Given the description of an element on the screen output the (x, y) to click on. 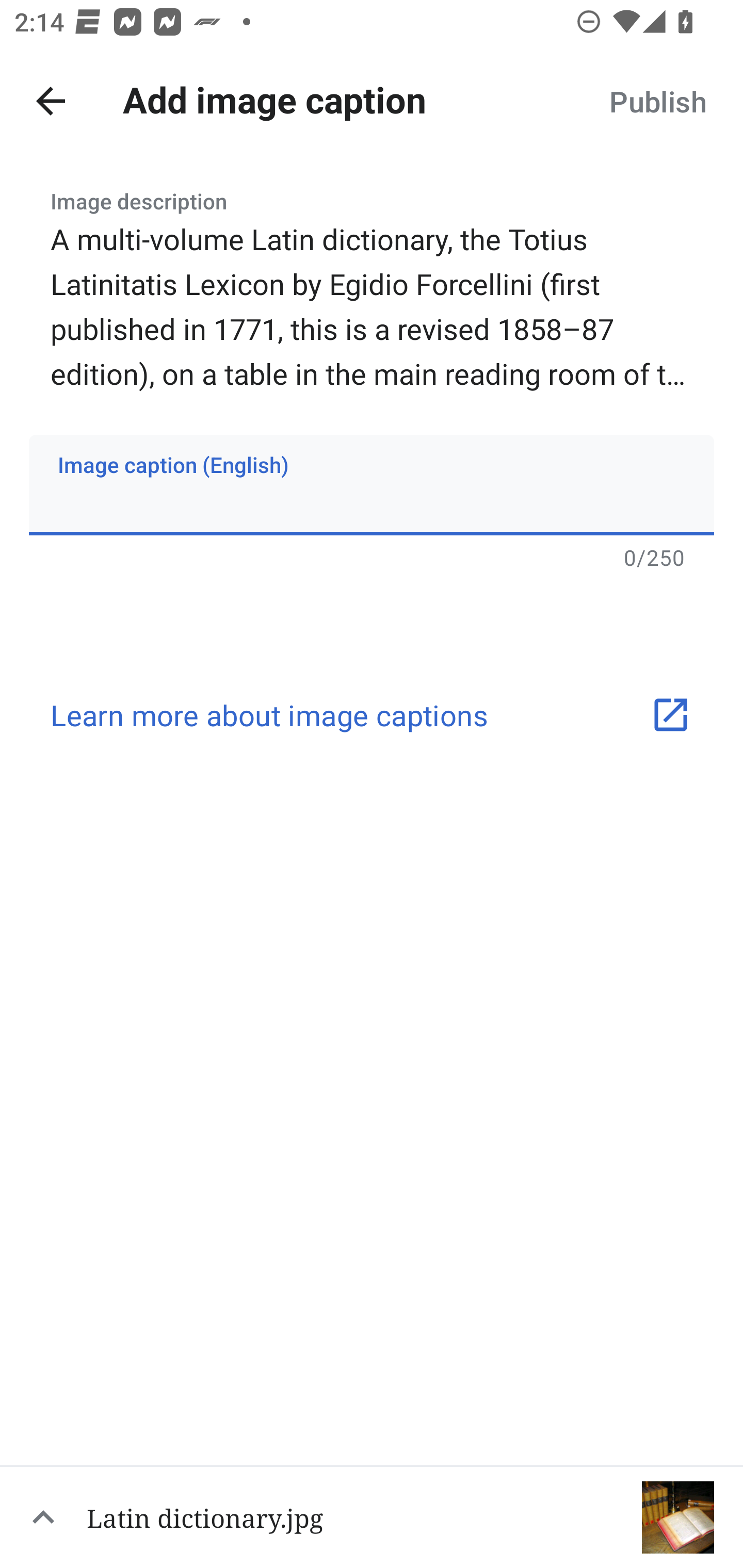
Cancel (50, 101)
Publish (657, 101)
Image caption (English) (371, 484)
Learn more about image captions (371, 714)
Latin dictionary.jpg (371, 1516)
